Given the description of an element on the screen output the (x, y) to click on. 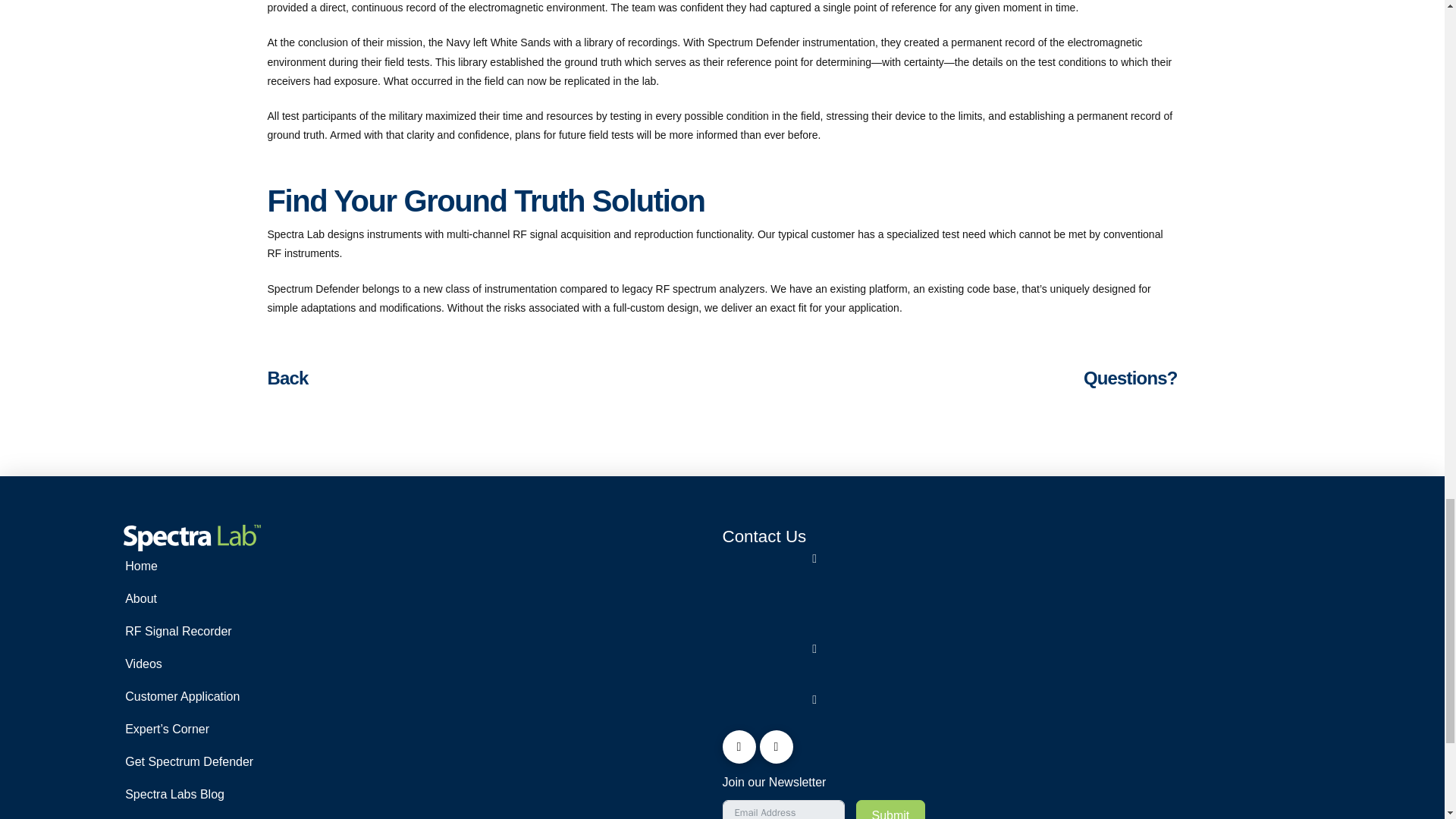
Videos (267, 665)
Contact Spectra Lab (267, 815)
Questions? (1130, 377)
RF Signal Recorder (267, 632)
About (267, 599)
Get Spectrum Defender (267, 762)
Spectra Labs Blog (267, 795)
Back (286, 377)
Customer Application (267, 697)
Submit (890, 809)
Home (267, 567)
